Given the description of an element on the screen output the (x, y) to click on. 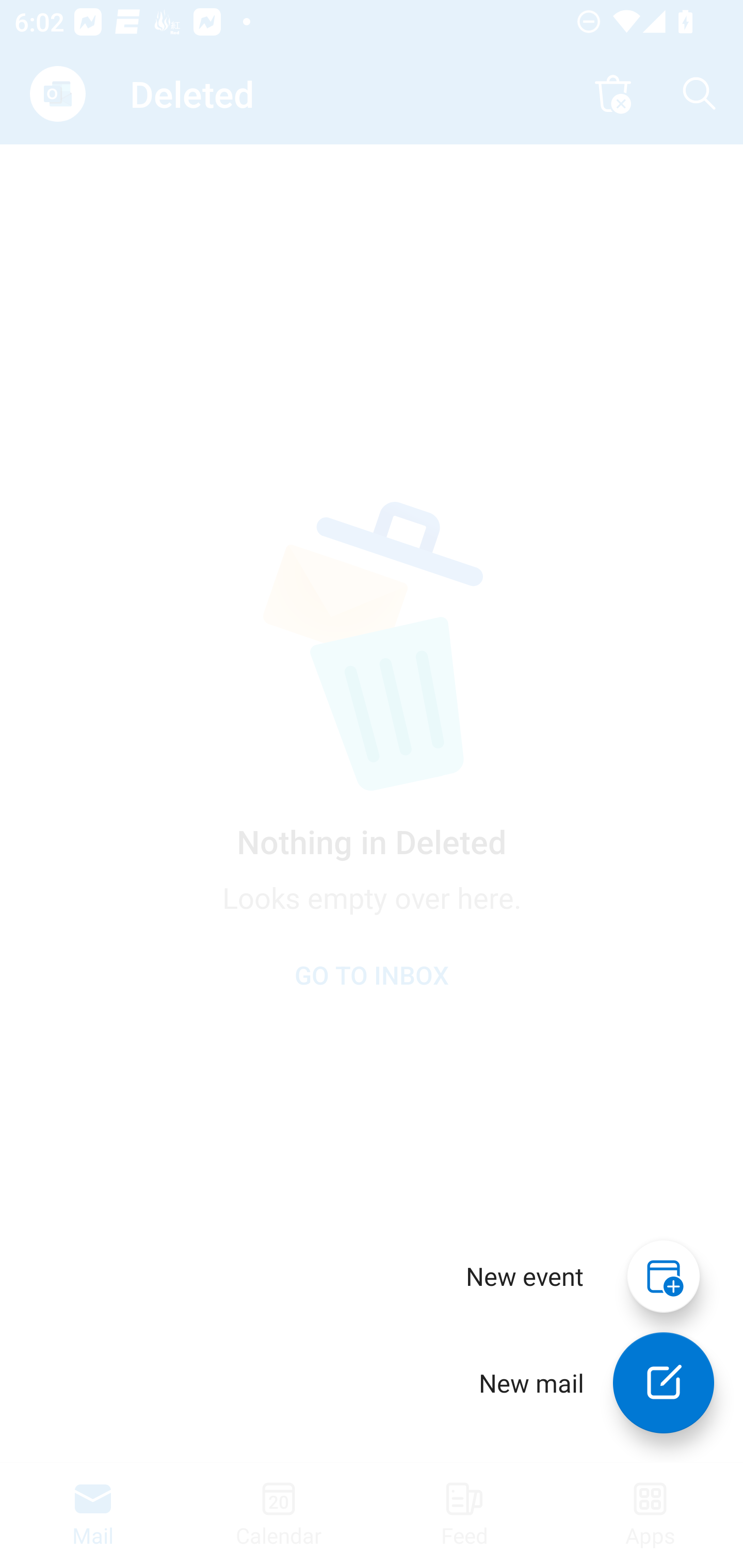
New event (524, 1275)
New mail New mail New mail (582, 1382)
New mail (663, 1382)
